Given the description of an element on the screen output the (x, y) to click on. 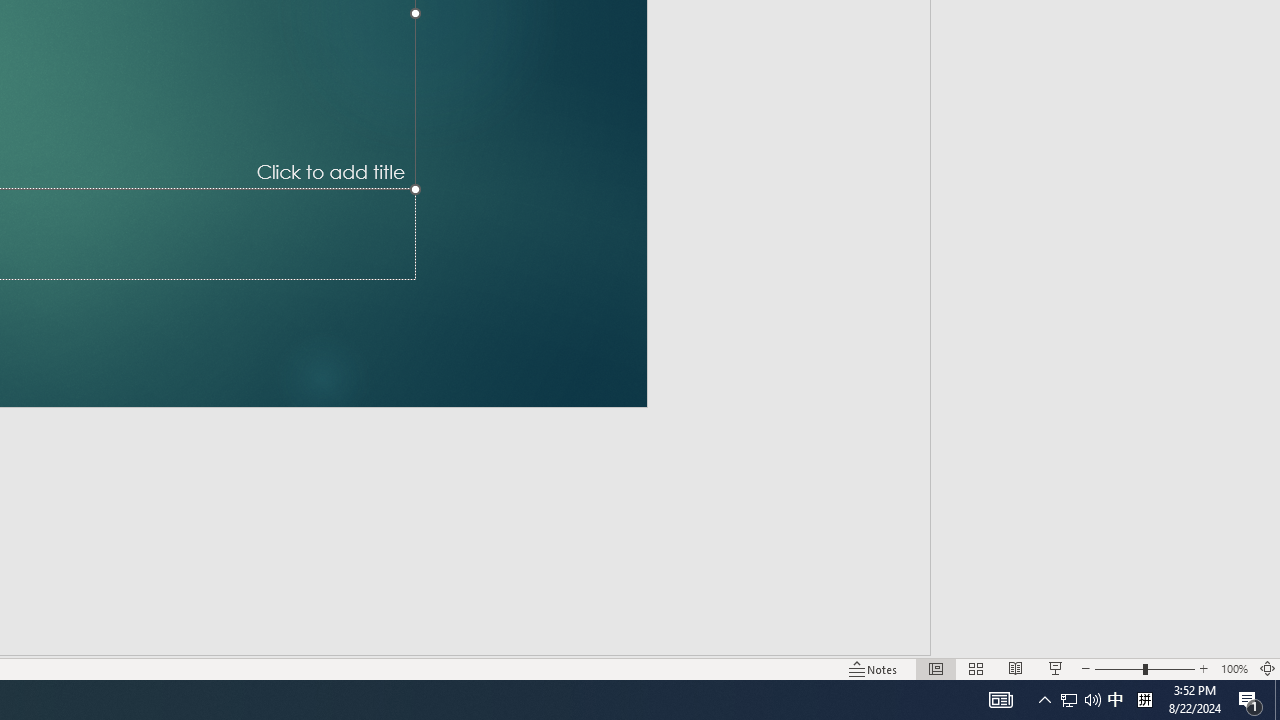
Zoom 100% (1234, 668)
